Given the description of an element on the screen output the (x, y) to click on. 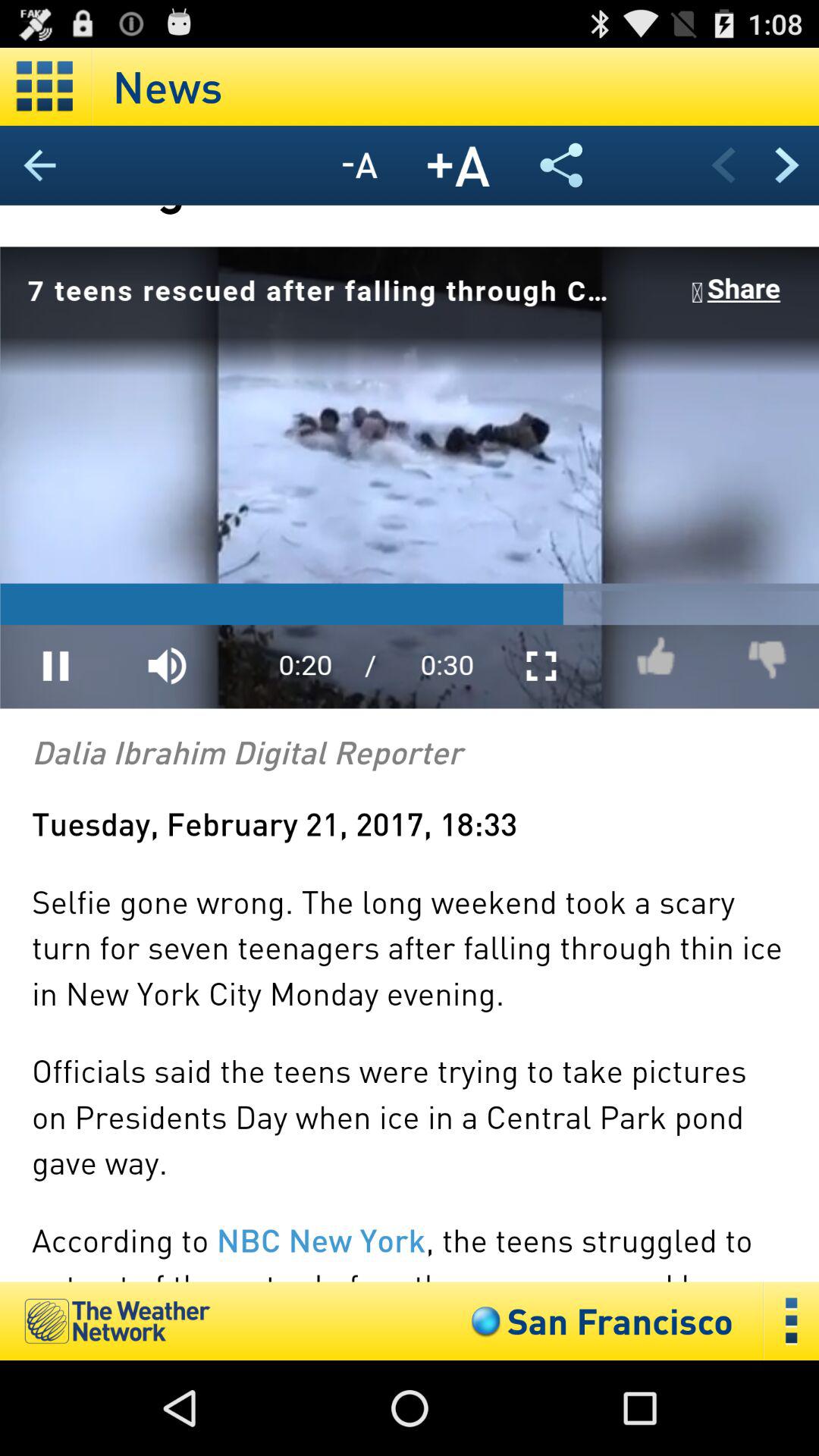
go to back (723, 165)
